Given the description of an element on the screen output the (x, y) to click on. 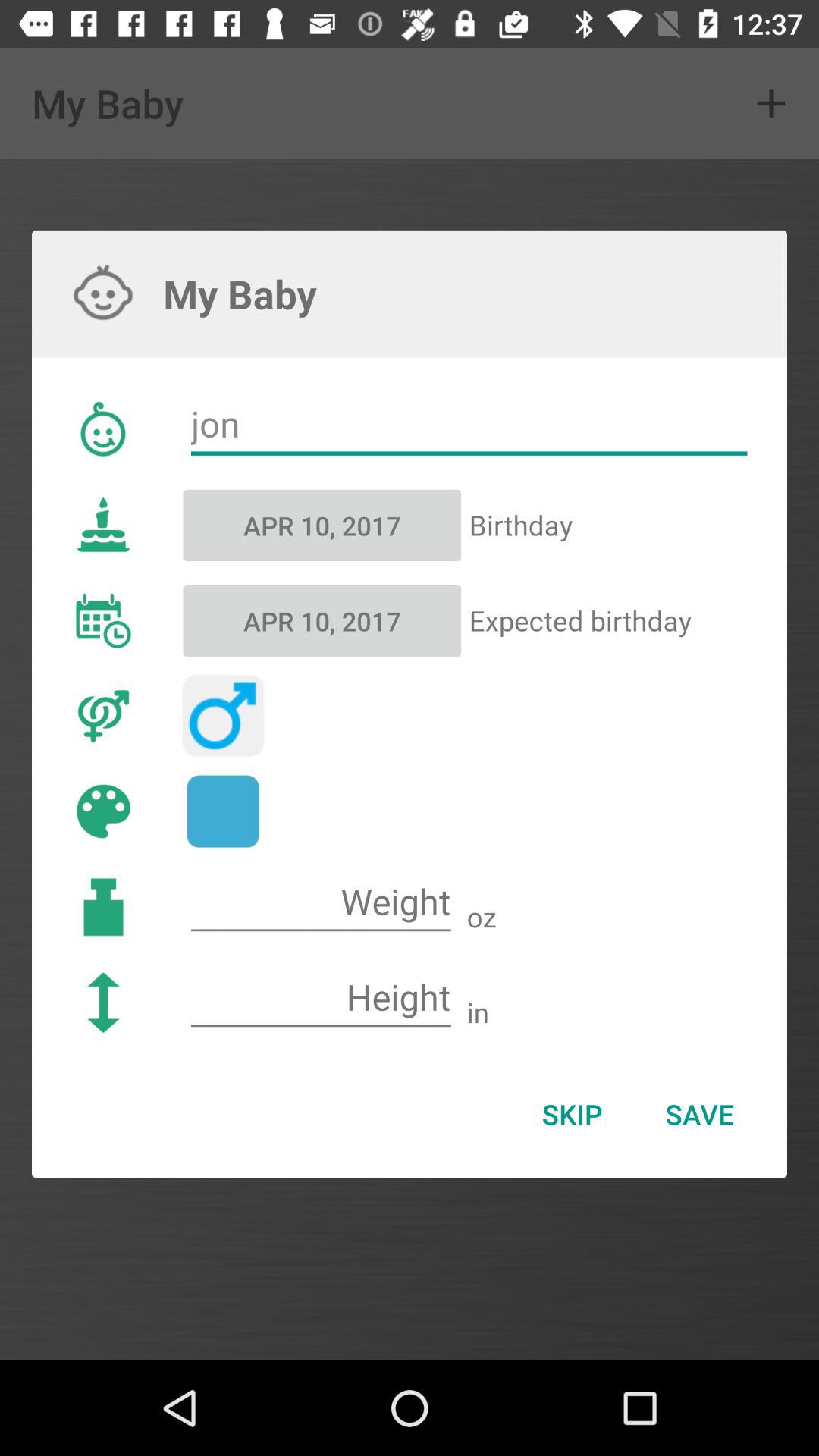
tap icon below the in icon (699, 1113)
